Given the description of an element on the screen output the (x, y) to click on. 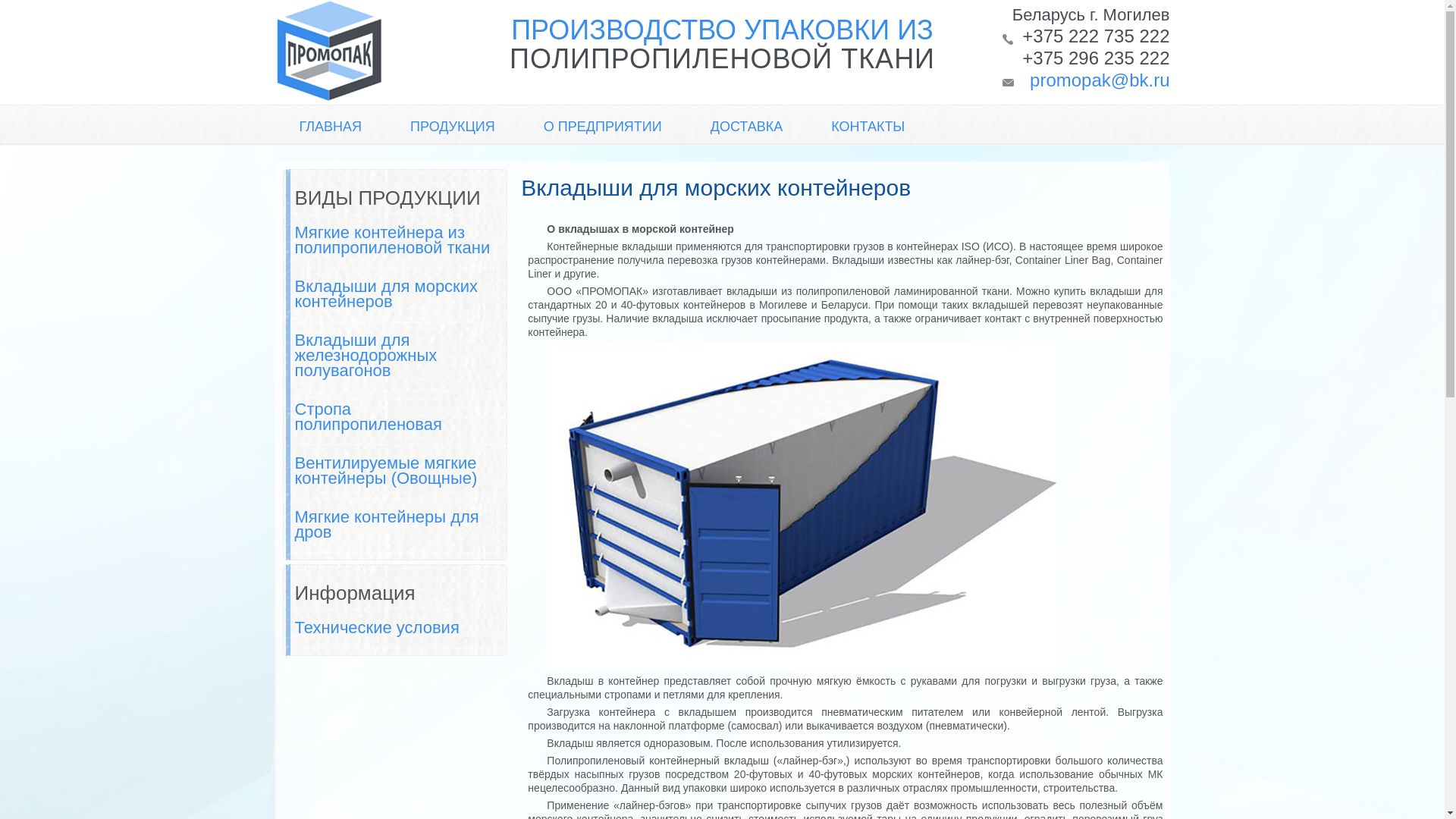
promopak@bk.ru Element type: text (1099, 79)
+375 296 235 222 Element type: text (1095, 57)
+375 222 735 222 Element type: text (1095, 35)
